Given the description of an element on the screen output the (x, y) to click on. 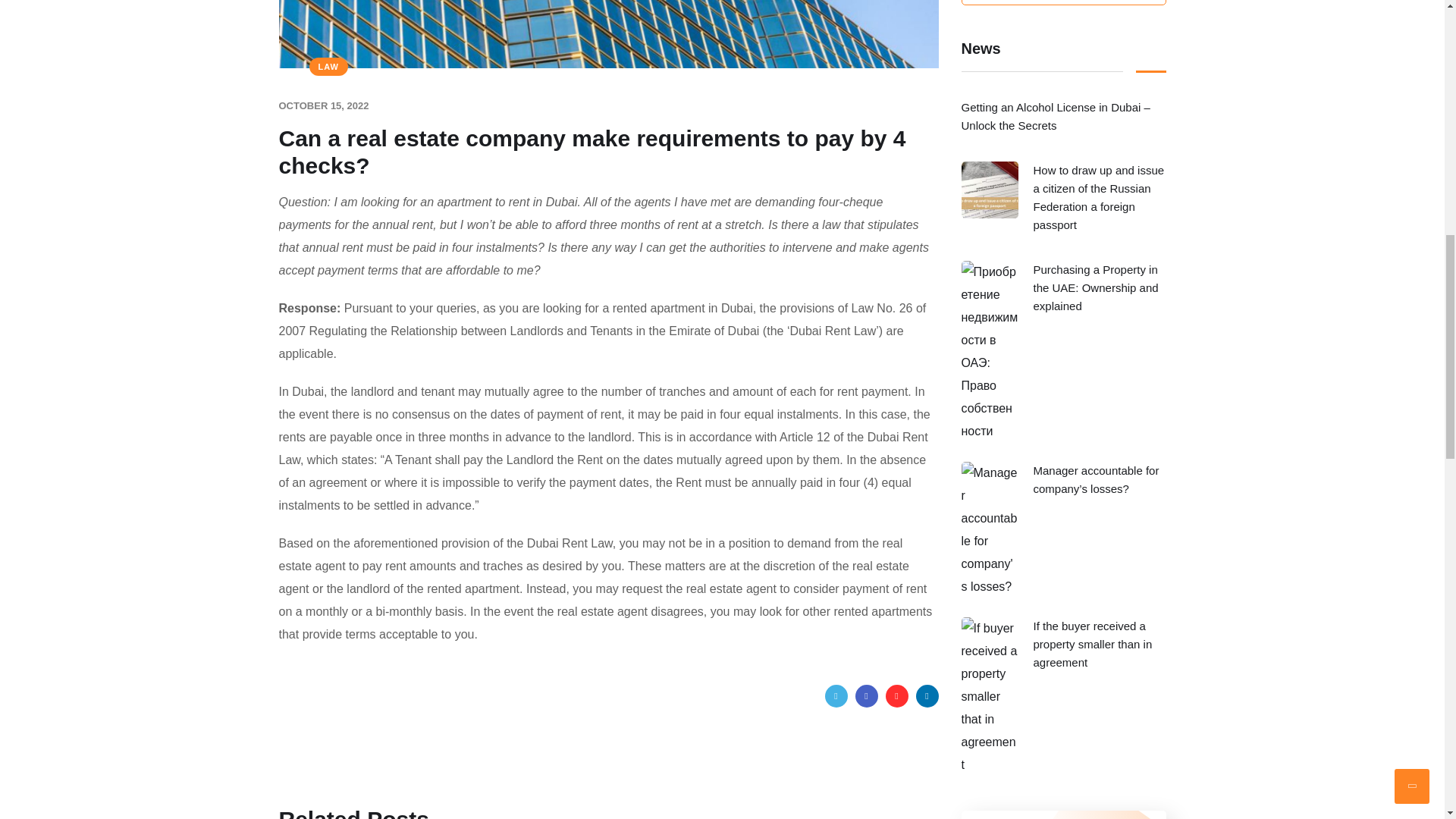
LinkedIn (927, 695)
Twitter (836, 695)
Pinterest (896, 695)
Facebook (866, 695)
